Given the description of an element on the screen output the (x, y) to click on. 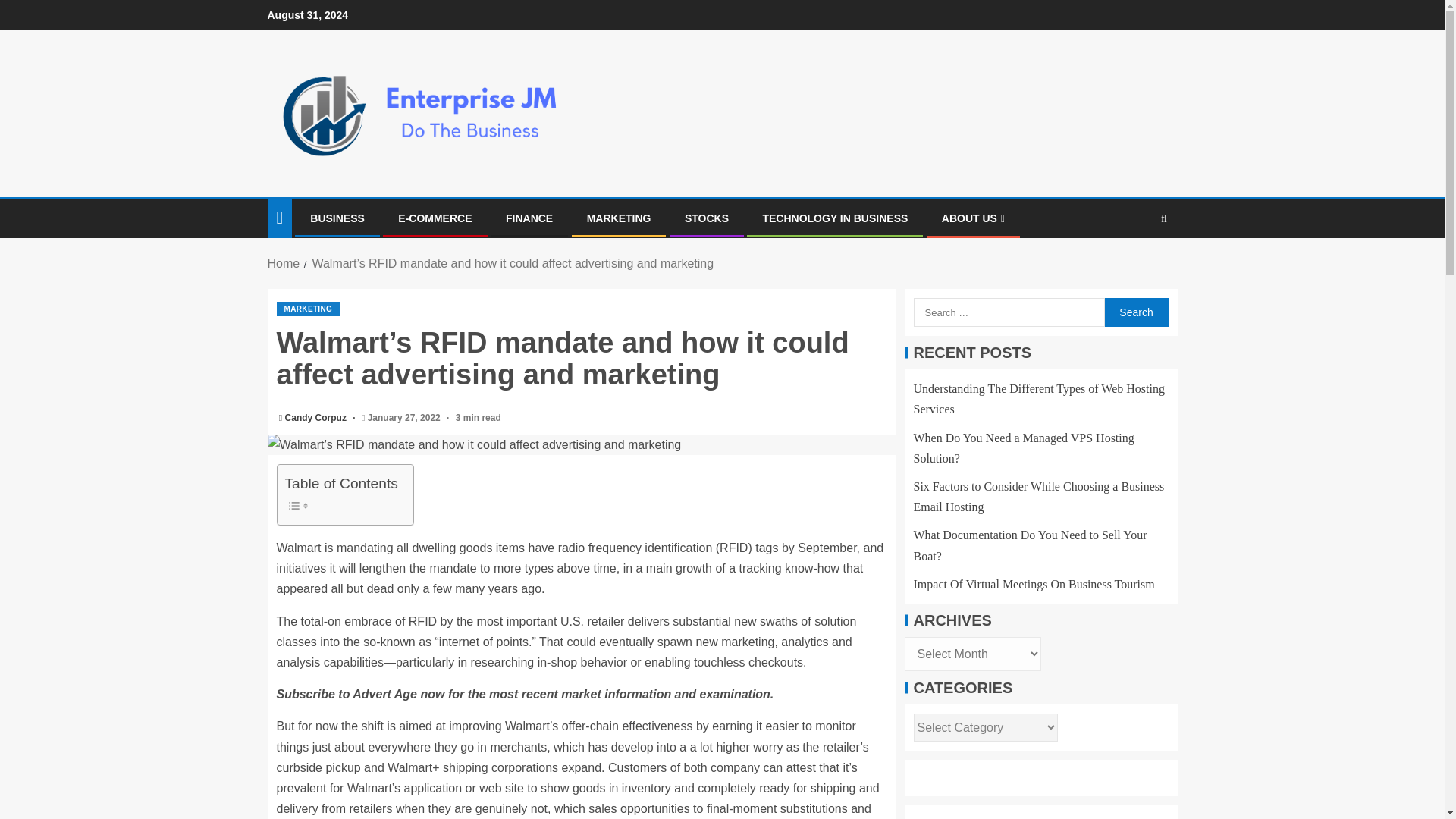
BUSINESS (337, 218)
Home (282, 263)
Search (1135, 312)
ABOUT US (973, 218)
MARKETING (307, 309)
STOCKS (706, 218)
TECHNOLOGY IN BUSINESS (834, 218)
Search (1133, 265)
Search (1135, 312)
FINANCE (529, 218)
